Given the description of an element on the screen output the (x, y) to click on. 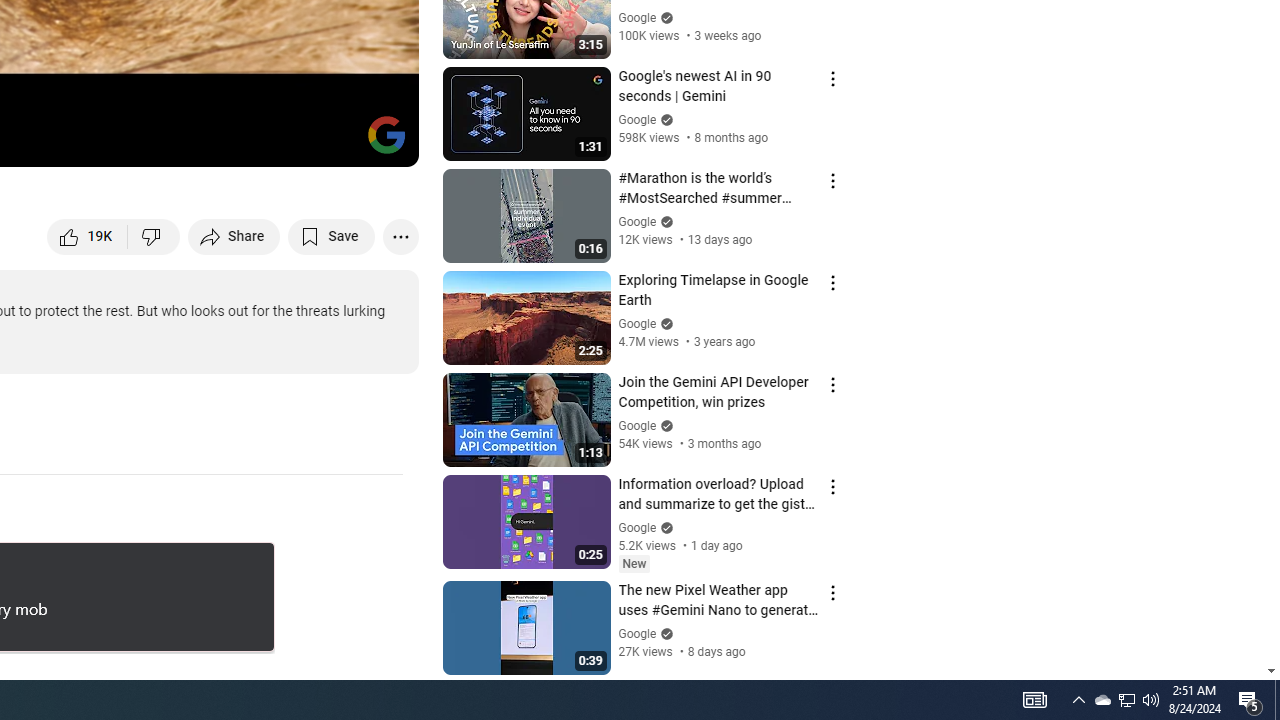
Save to playlist (331, 236)
More actions (399, 236)
Channel watermark (386, 134)
Dislike this video (154, 236)
Full screen (f) (382, 142)
New (634, 564)
